Given the description of an element on the screen output the (x, y) to click on. 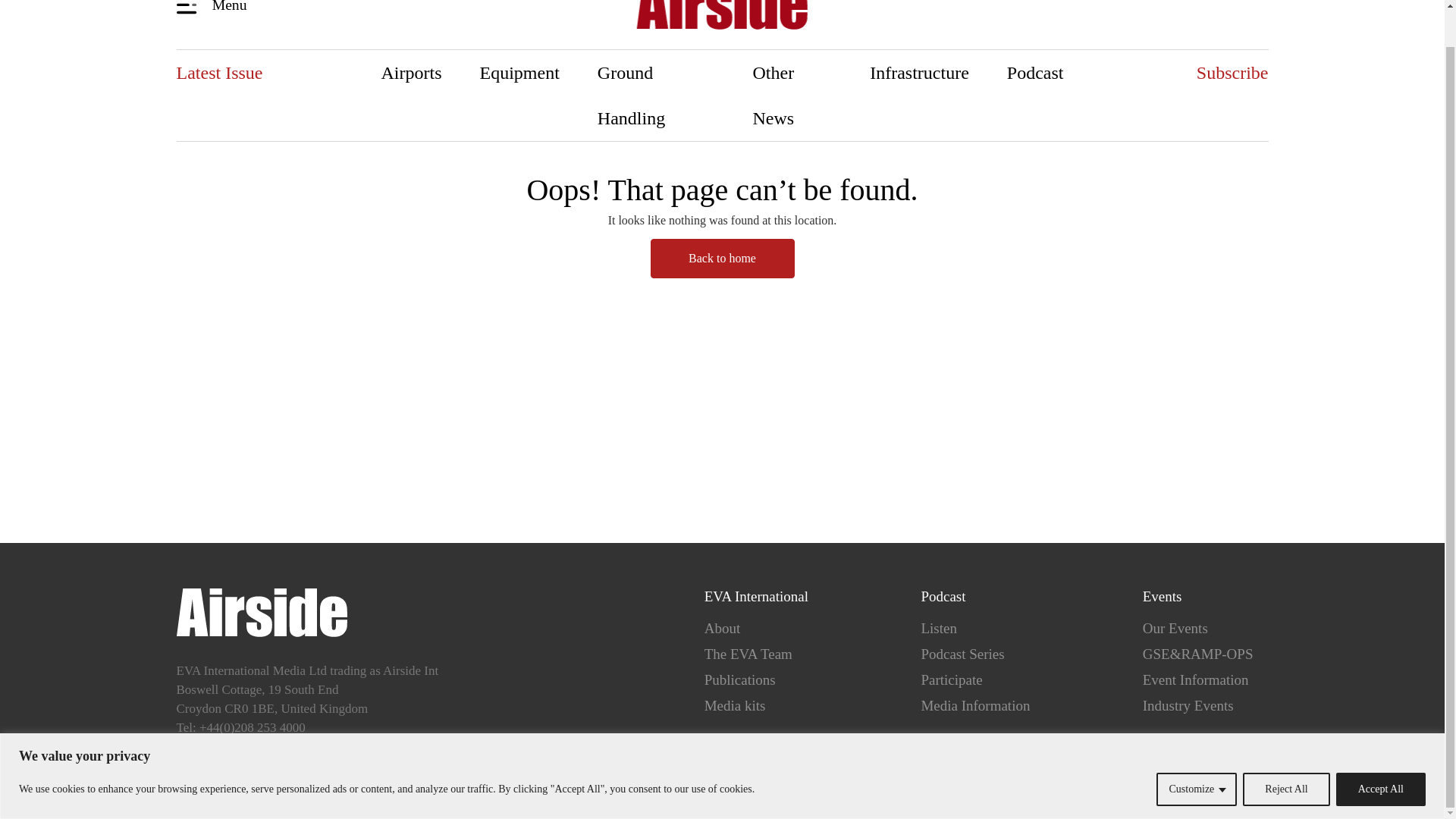
Accept All (1380, 749)
Airports (411, 72)
Latest Issue (219, 72)
Menu (213, 7)
Podcast (1035, 72)
Infrastructure (919, 72)
Equipment (519, 72)
Airside International (722, 16)
Other News (792, 94)
Customize (1196, 749)
